Given the description of an element on the screen output the (x, y) to click on. 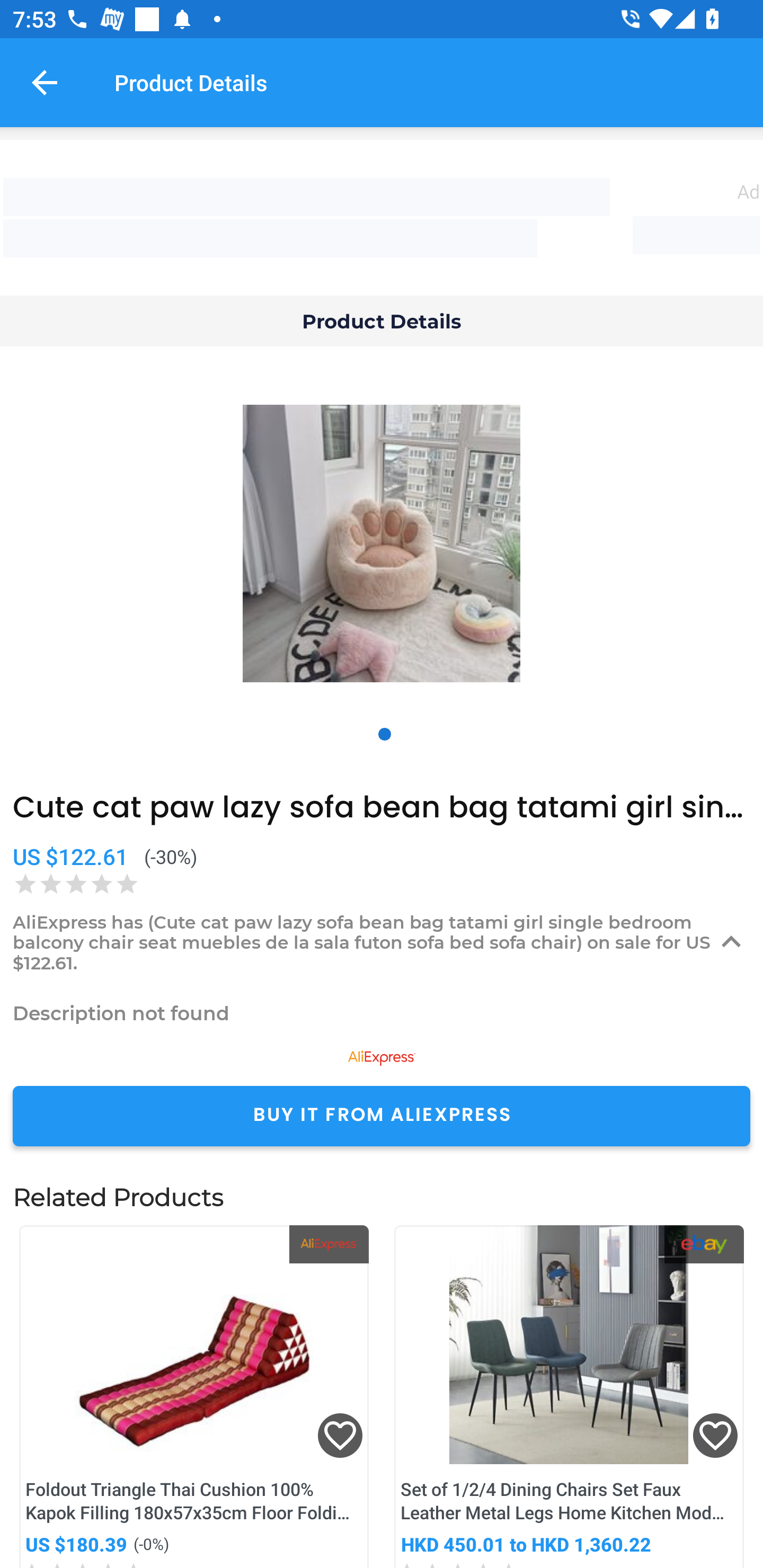
Navigate up (44, 82)
Description not found (381, 1012)
BUY IT FROM ALIEXPRESS (381, 1115)
